Given the description of an element on the screen output the (x, y) to click on. 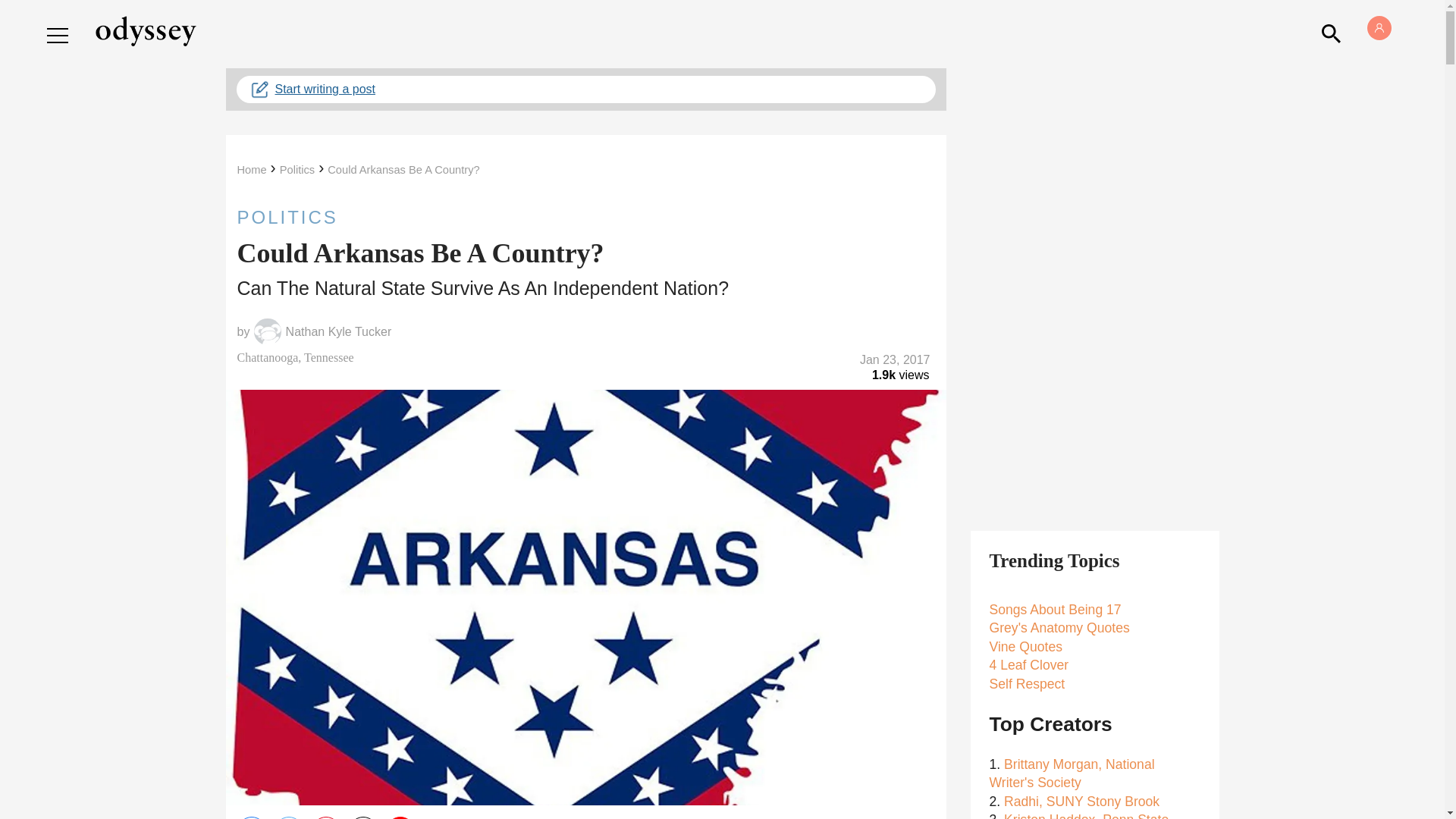
Nathan Kyle Tucker (338, 332)
POLITICS (584, 217)
Could Arkansas Be A Country? (403, 169)
Start writing a post (585, 89)
Home (250, 169)
Politics (296, 169)
